Given the description of an element on the screen output the (x, y) to click on. 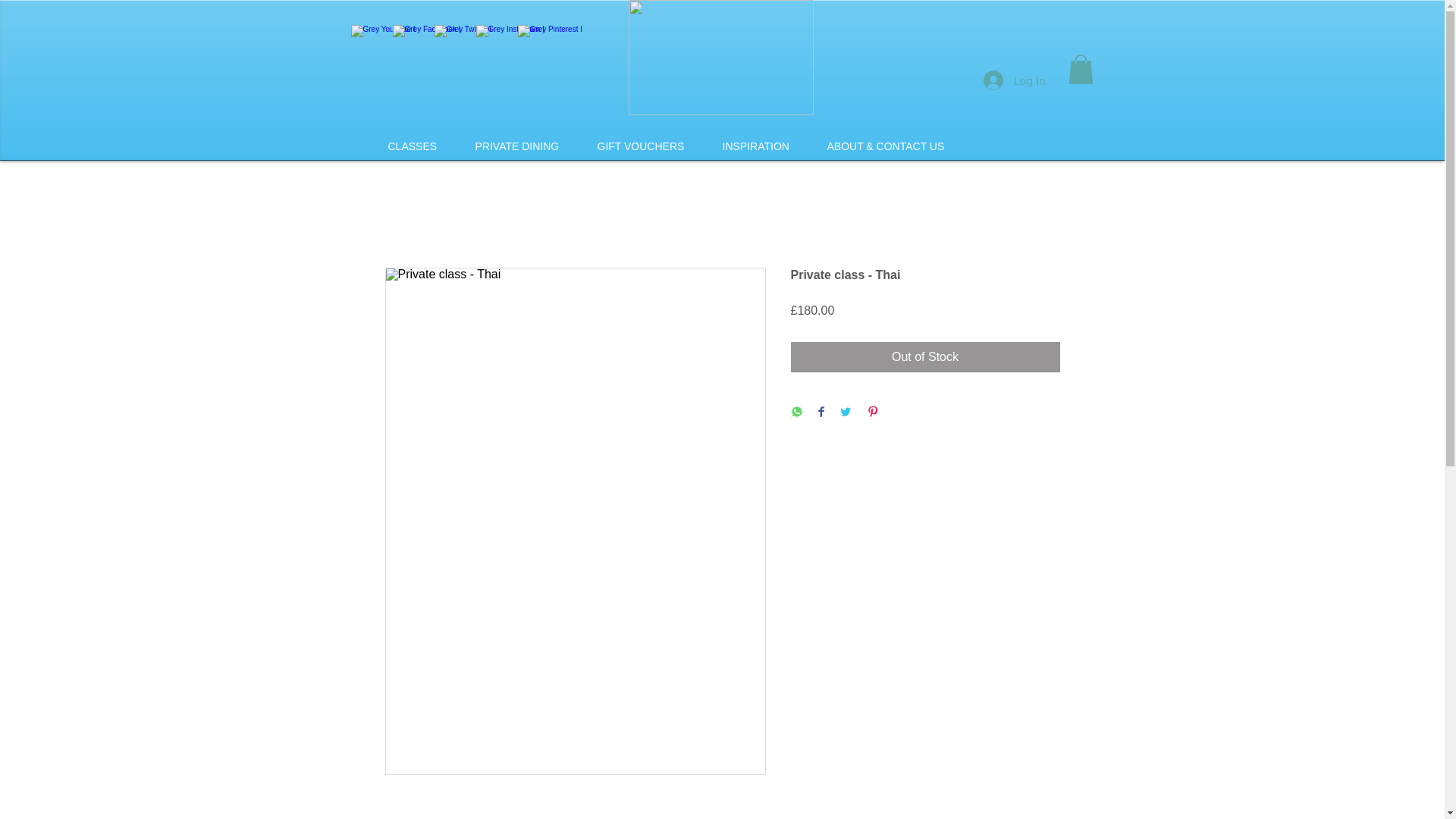
GIFT VOUCHERS (640, 146)
CLASSES (411, 146)
Log In (1014, 80)
Out of Stock (924, 357)
INSPIRATION (755, 146)
logo-white.png (719, 57)
PRIVATE DINING (517, 146)
